Given the description of an element on the screen output the (x, y) to click on. 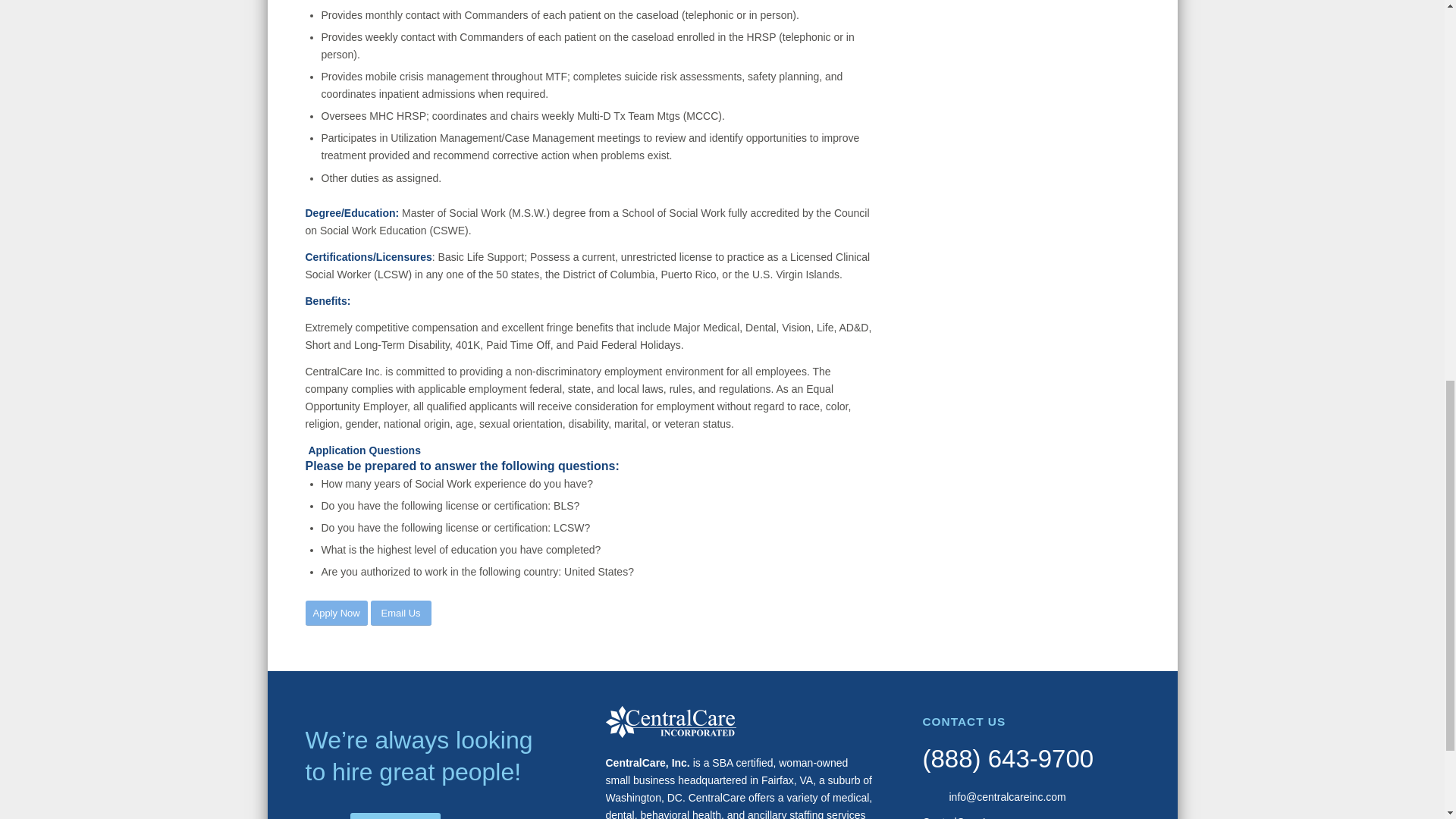
Email Us (400, 612)
Apply Now (335, 612)
APPLY NOW (395, 816)
